Given the description of an element on the screen output the (x, y) to click on. 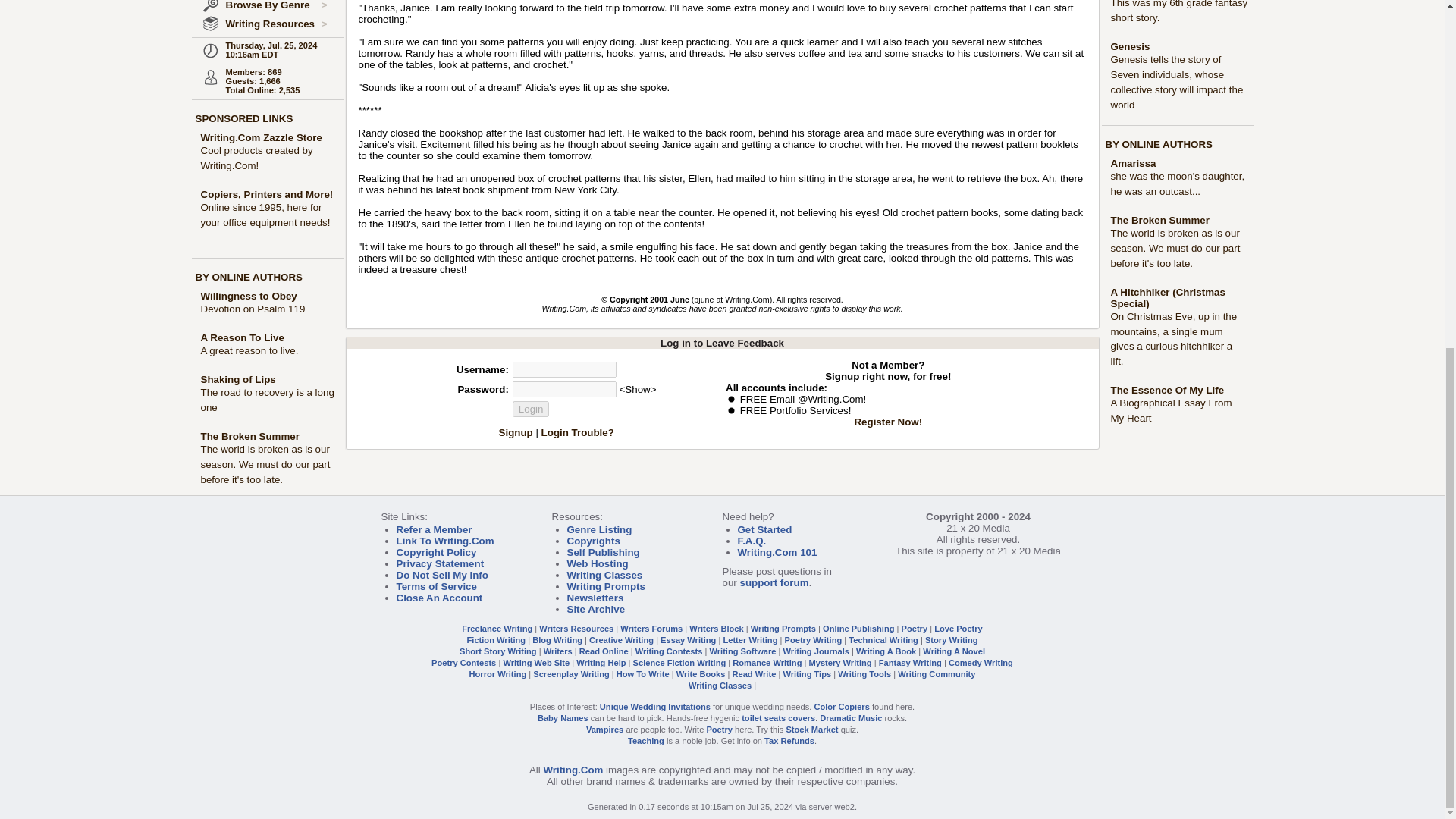
Login (531, 408)
